Given the description of an element on the screen output the (x, y) to click on. 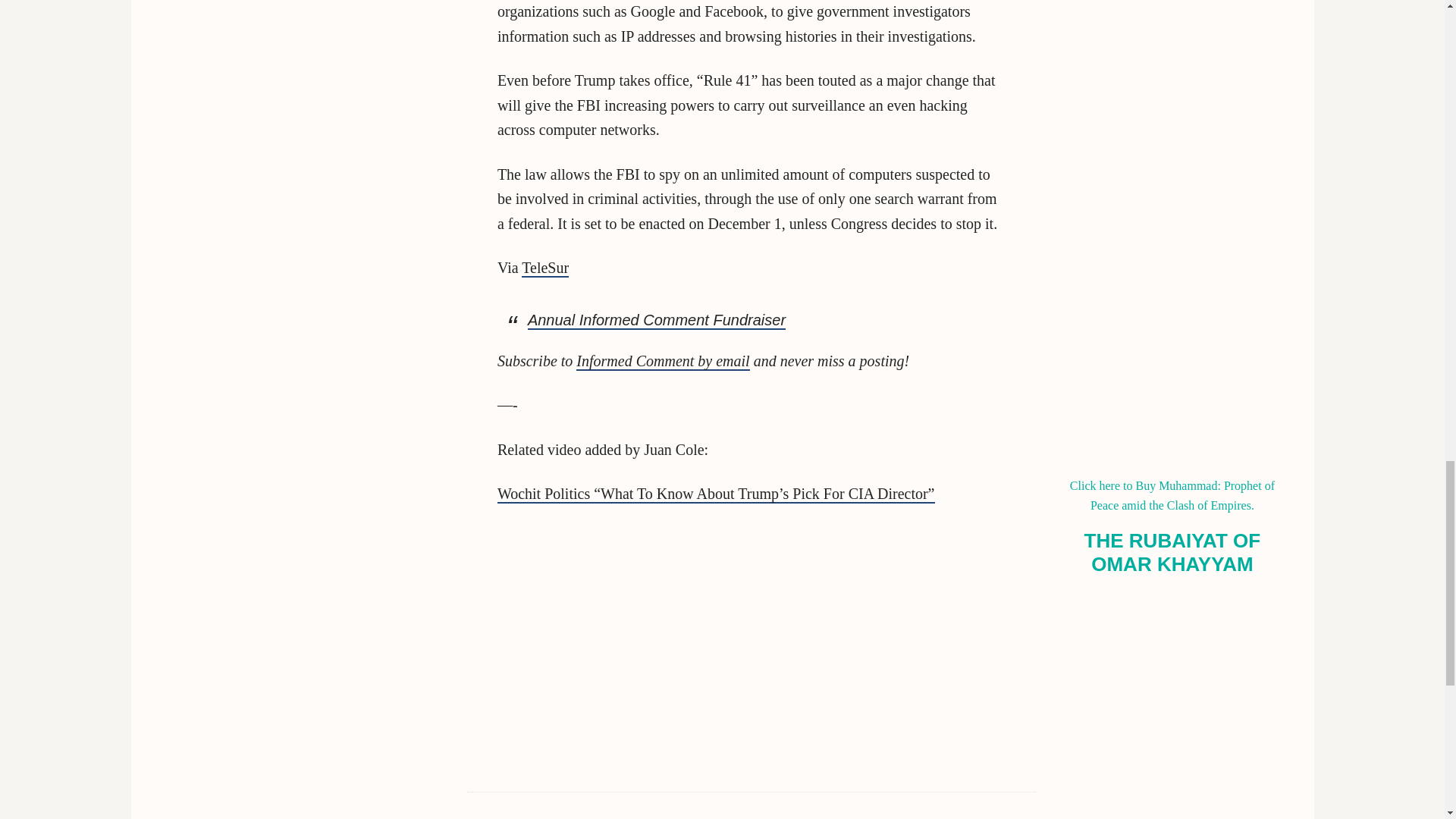
Informed Comment by email (662, 361)
Annual Informed Comment Fundraiser (656, 321)
TeleSur (545, 268)
